Given the description of an element on the screen output the (x, y) to click on. 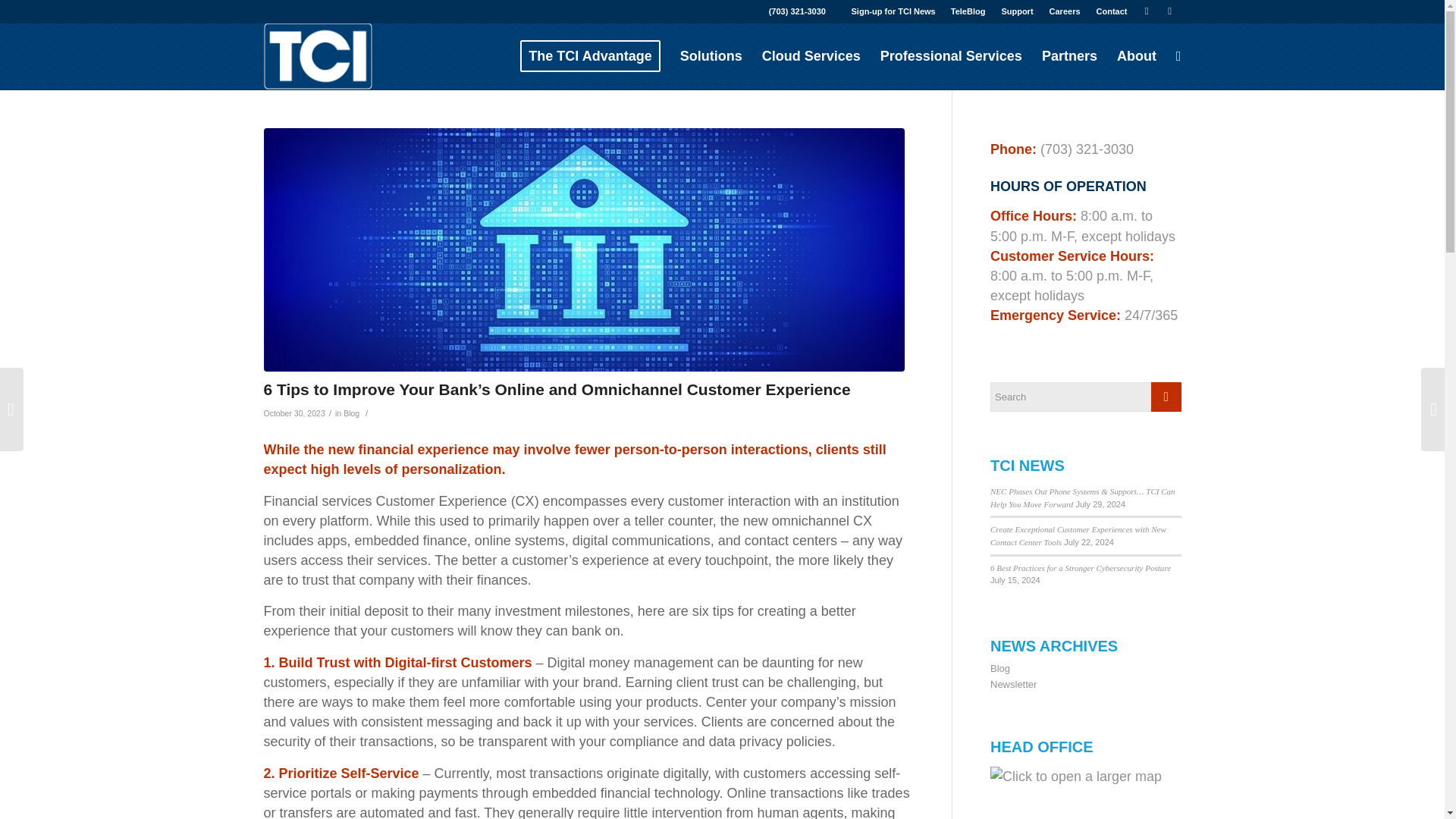
Solutions (710, 55)
Careers (1064, 11)
Facebook (1169, 11)
Contact (1111, 11)
Sign-up for TCI News (893, 10)
Linkedin (1146, 11)
TeleBlog (967, 11)
Professional Services (951, 55)
Support (1016, 11)
Cloud Services (811, 55)
The TCI Advantage (590, 55)
